Given the description of an element on the screen output the (x, y) to click on. 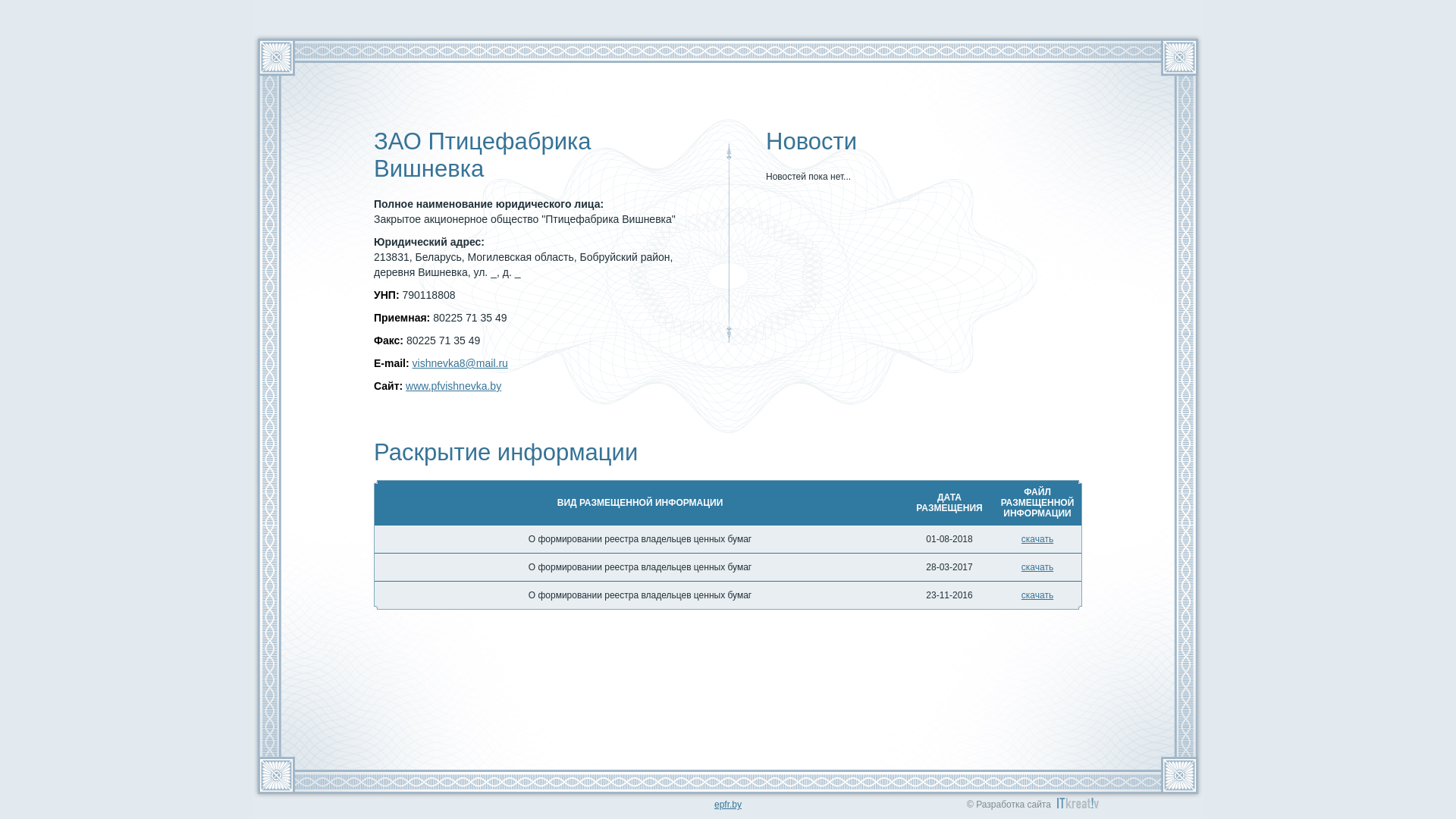
epfr.by Element type: text (727, 804)
www.pfvishnevka.by Element type: text (453, 385)
vishnevka8@mail.ru Element type: text (460, 363)
